Given the description of an element on the screen output the (x, y) to click on. 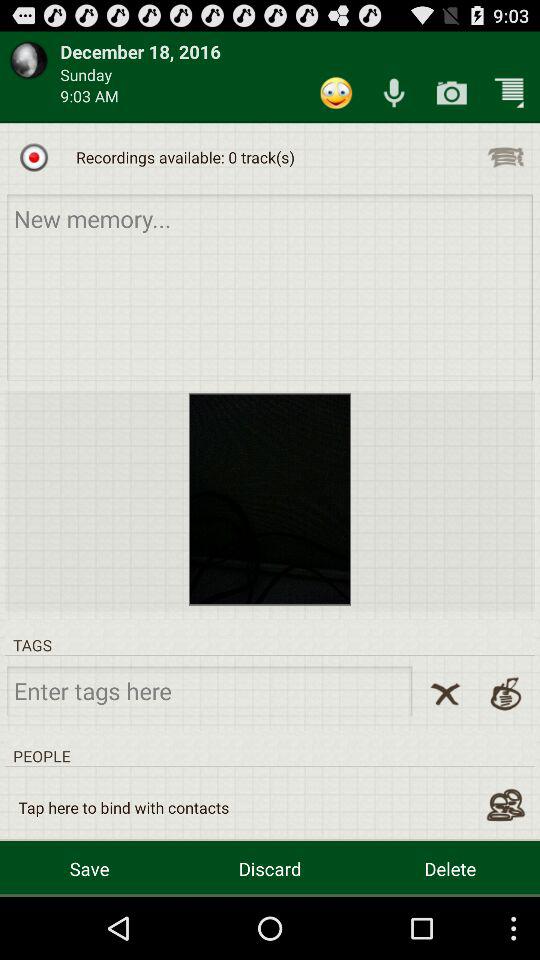
choose app next to the sunday app (336, 92)
